Given the description of an element on the screen output the (x, y) to click on. 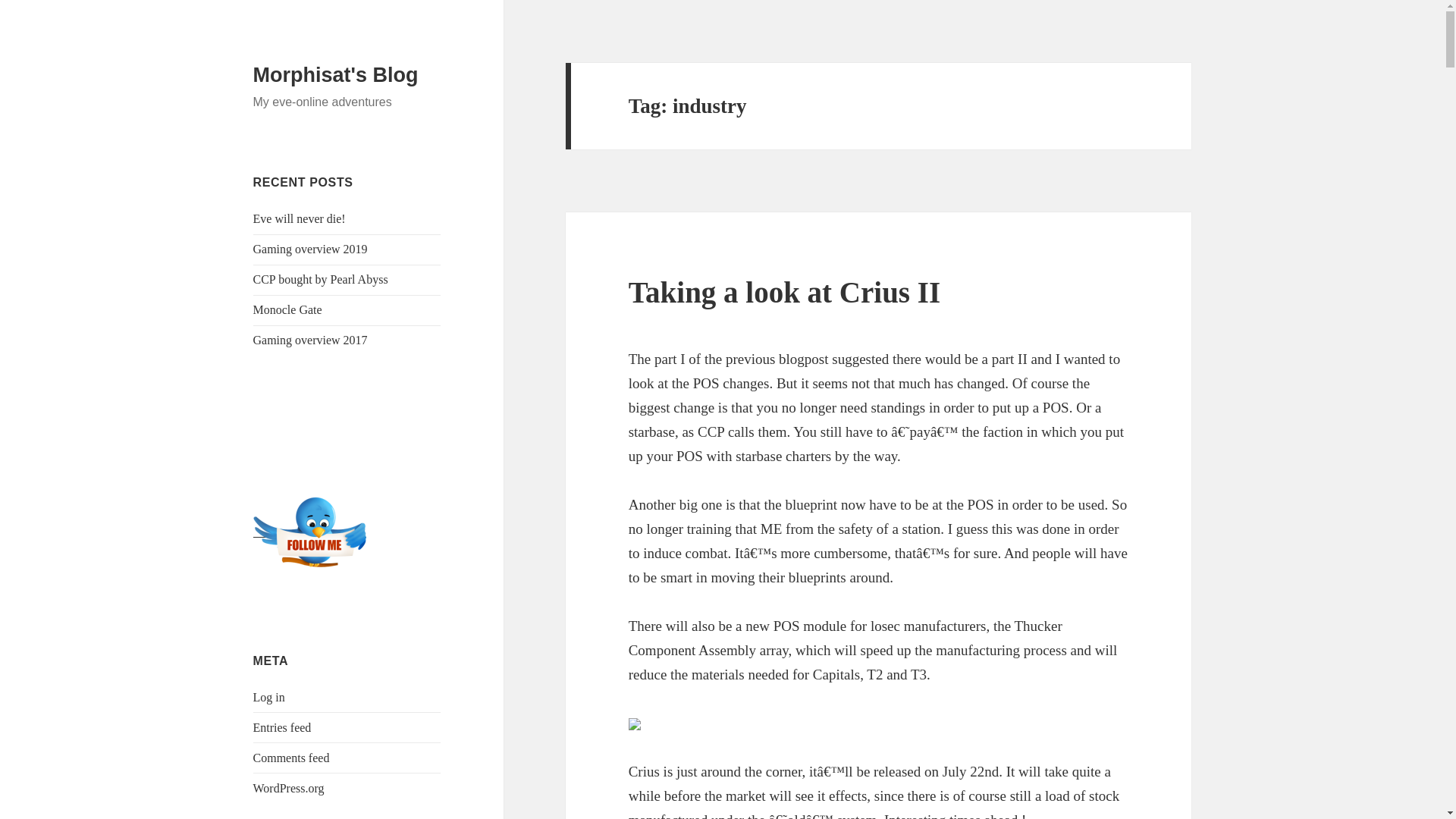
CCP bought by Pearl Abyss (320, 278)
Monocle Gate (287, 309)
Morphisat's Blog (336, 74)
Comments feed (291, 757)
Gaming overview 2017 (310, 339)
Eve will never die! (299, 218)
Entries feed (282, 727)
Gaming overview 2019 (310, 248)
WordPress.org (288, 788)
Log in (269, 697)
